Given the description of an element on the screen output the (x, y) to click on. 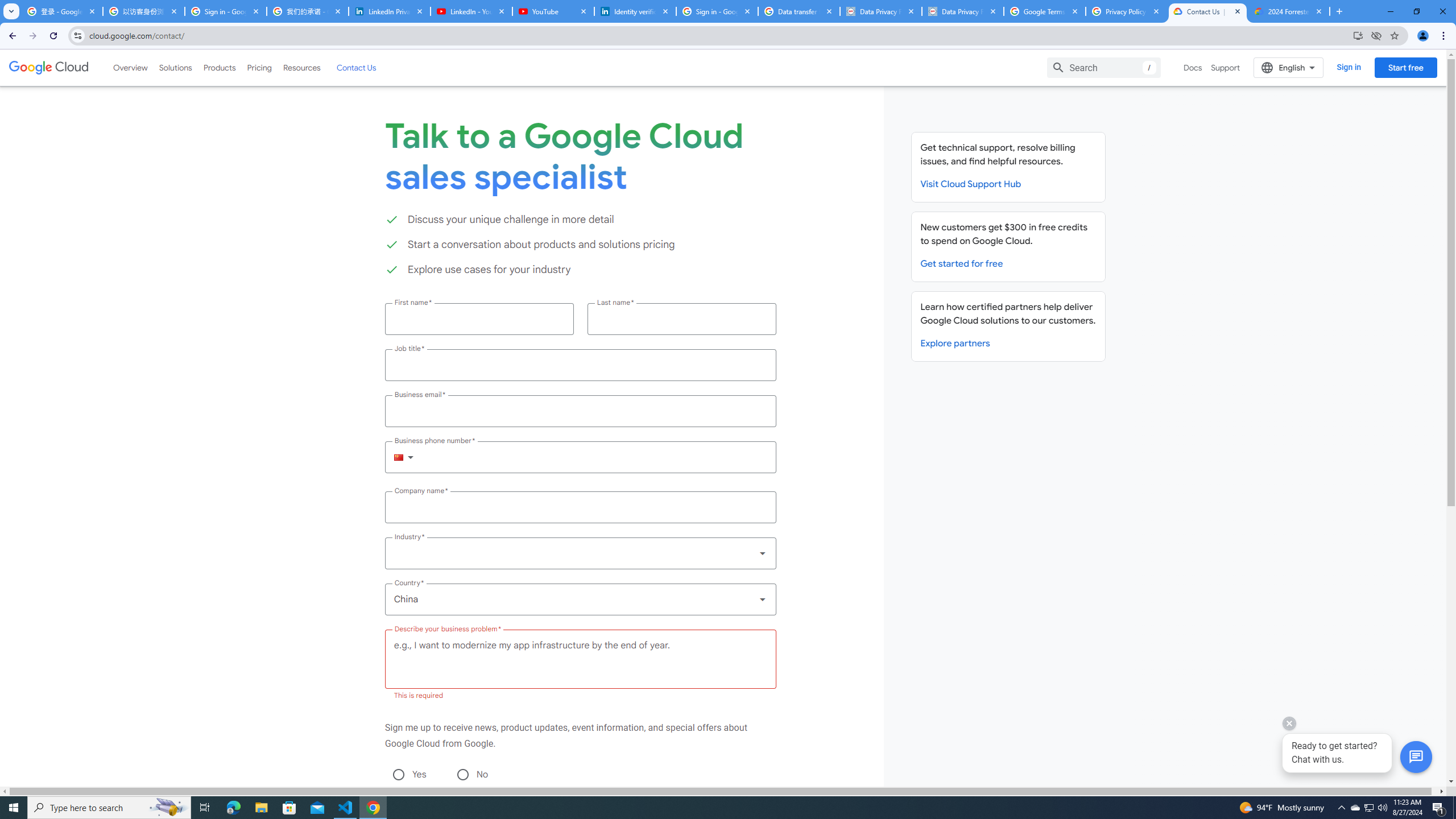
Solutions (175, 67)
Install Google Cloud (1358, 35)
Start free (1405, 67)
Data Privacy Framework (880, 11)
English (1288, 67)
Button to activate chat (1416, 757)
Business email * (580, 411)
Pricing (259, 67)
